Given the description of an element on the screen output the (x, y) to click on. 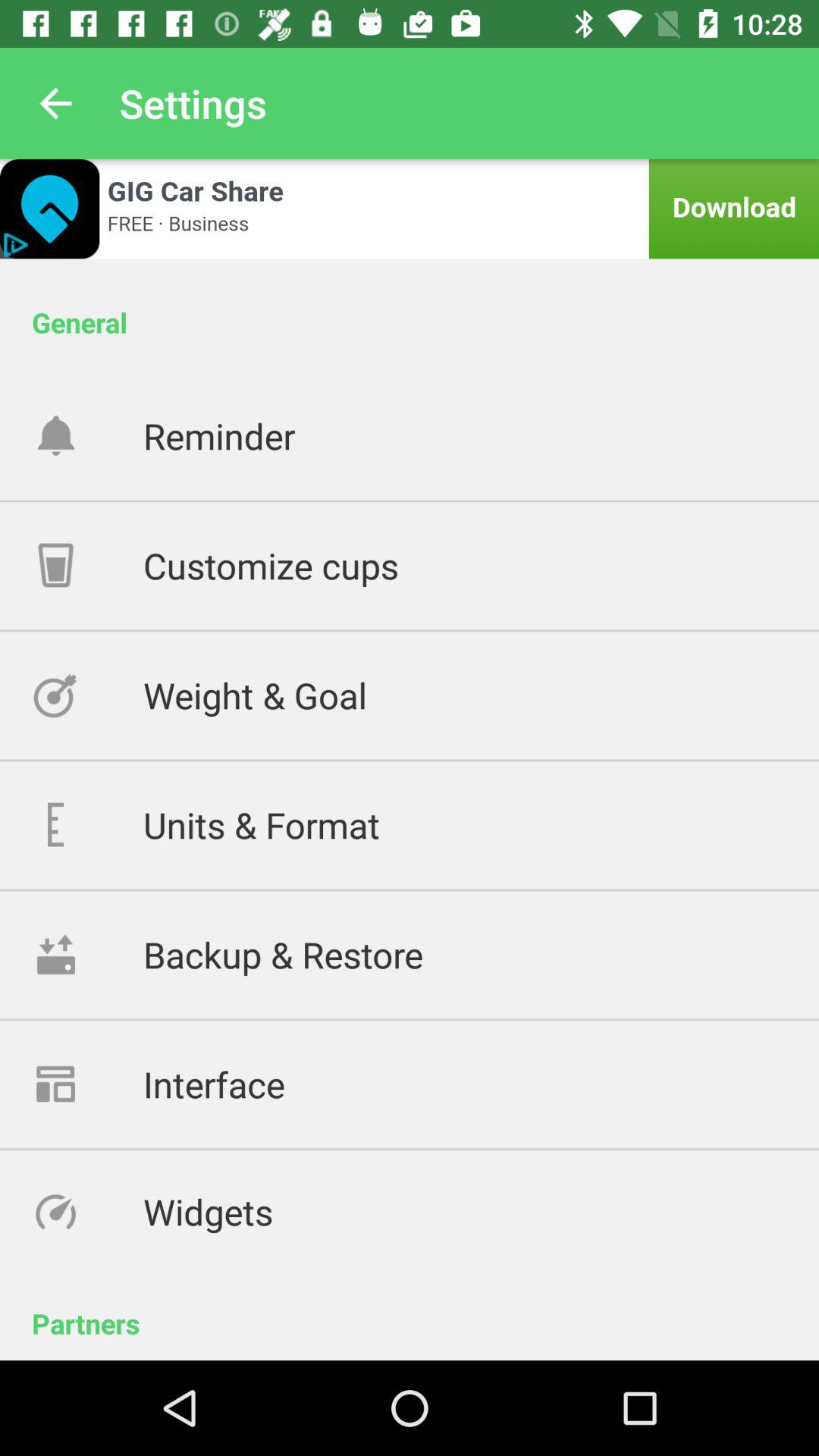
turn on the app next to the settings app (55, 103)
